Given the description of an element on the screen output the (x, y) to click on. 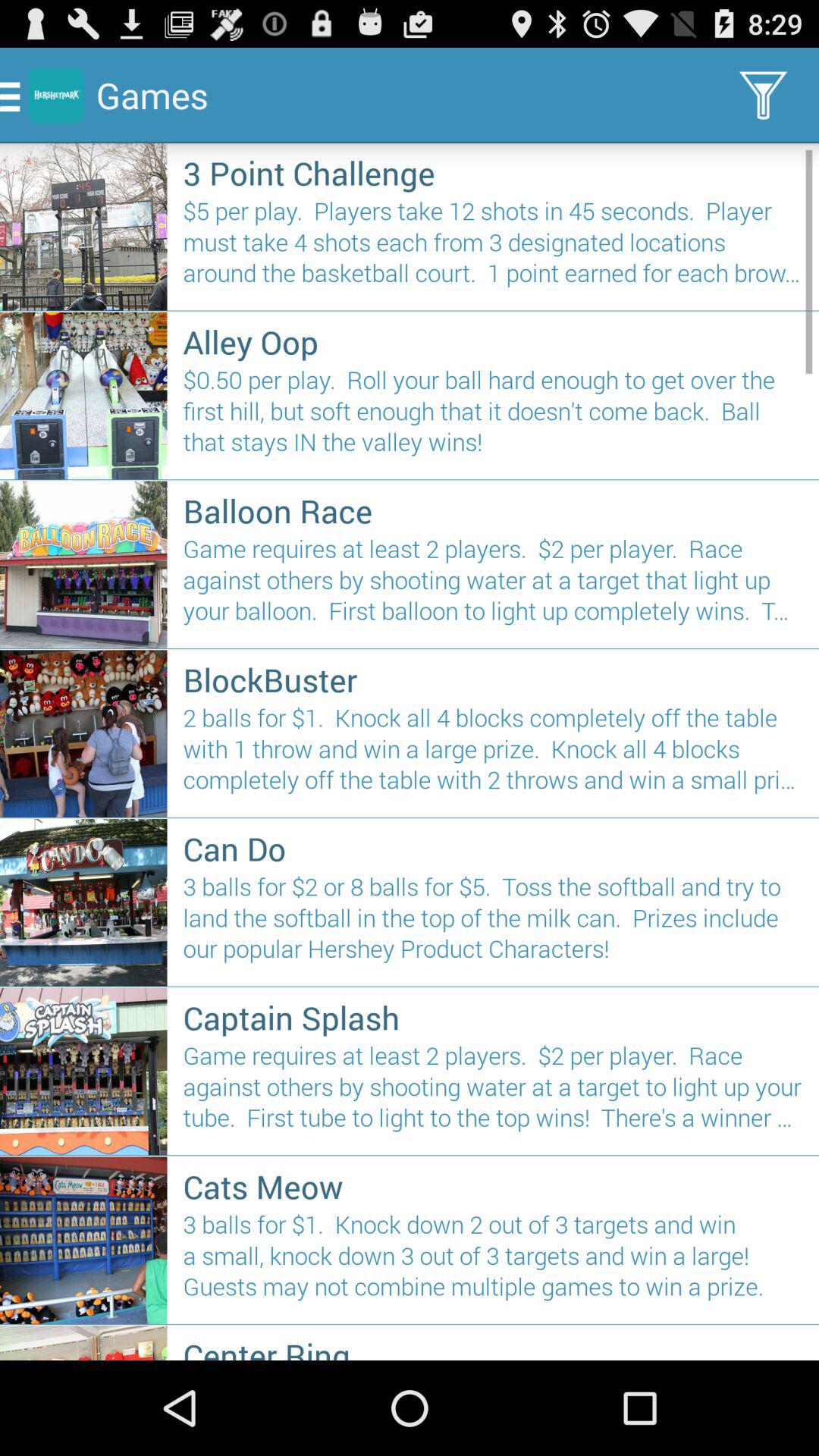
select app to the right of the games (763, 95)
